Given the description of an element on the screen output the (x, y) to click on. 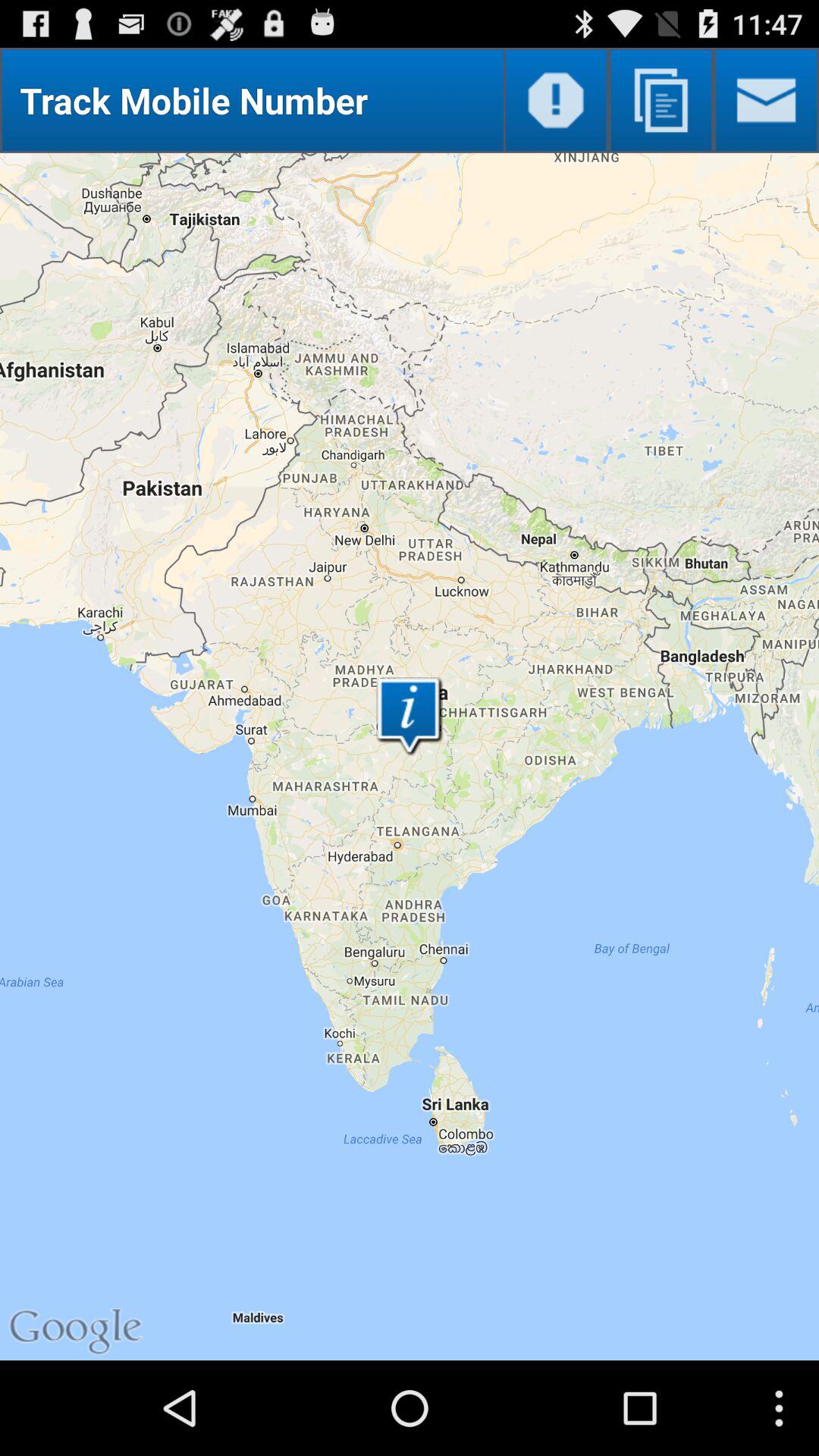
message adding button (766, 99)
